Given the description of an element on the screen output the (x, y) to click on. 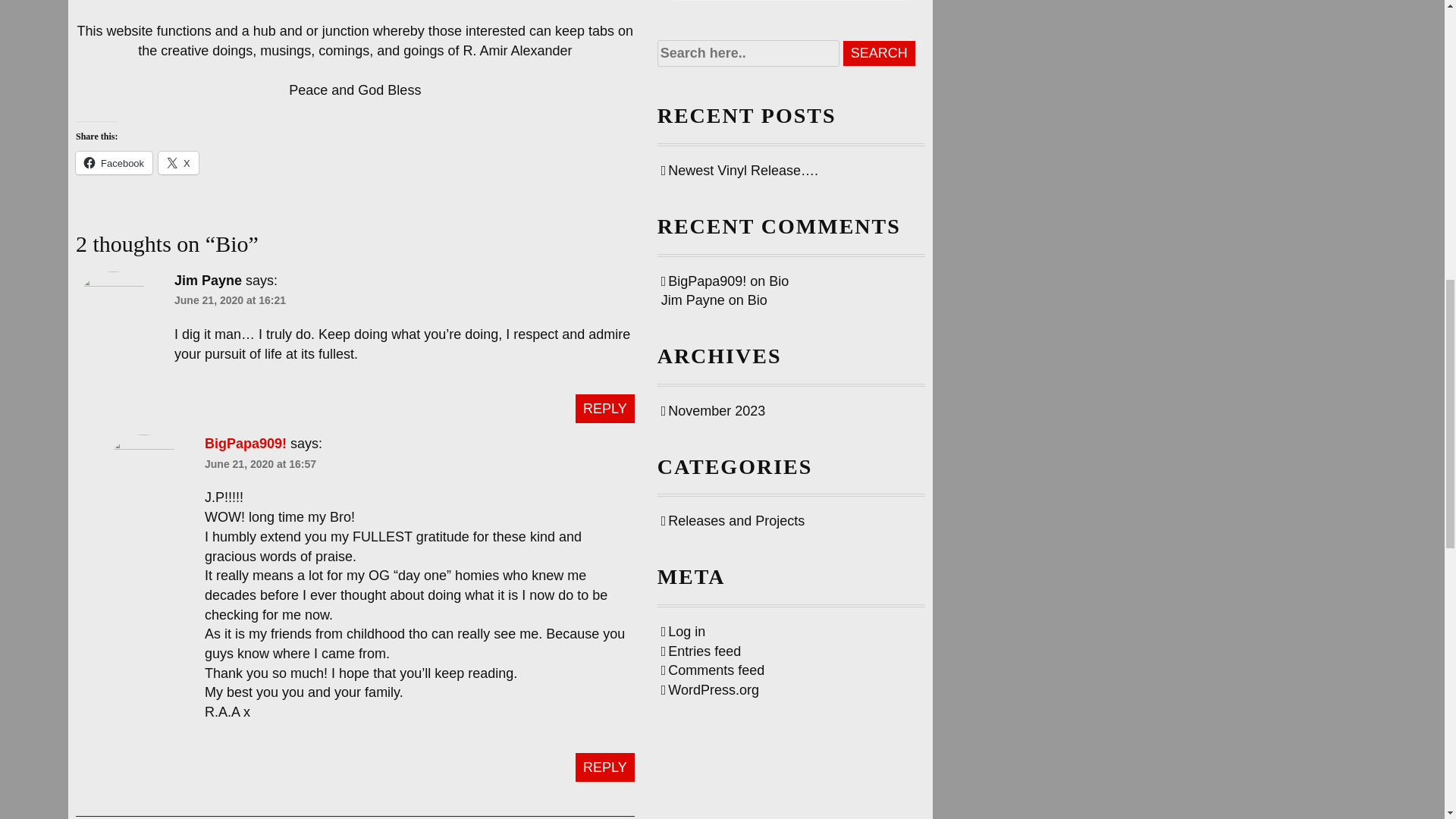
Bio (757, 299)
REPLY (604, 408)
June 21, 2020 at 16:57 (260, 462)
X (178, 162)
BigPapa909! (245, 443)
Releases and Projects (733, 520)
November 2023 (713, 410)
Log in (683, 631)
REPLY (604, 767)
Facebook (113, 162)
